Given the description of an element on the screen output the (x, y) to click on. 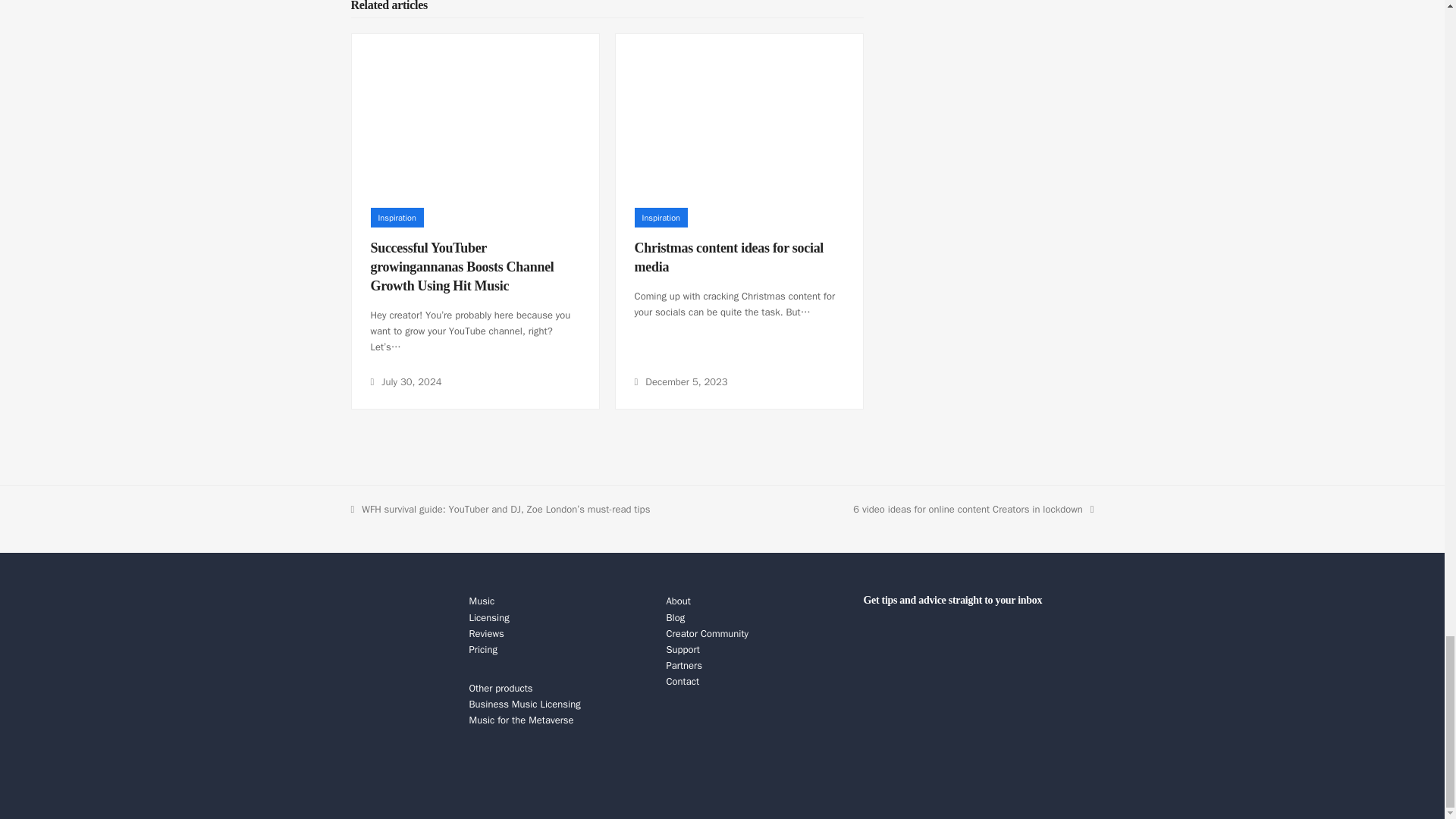
Christmas content ideas for social media (729, 257)
Inspiration (396, 218)
Inspiration (660, 218)
